Given the description of an element on the screen output the (x, y) to click on. 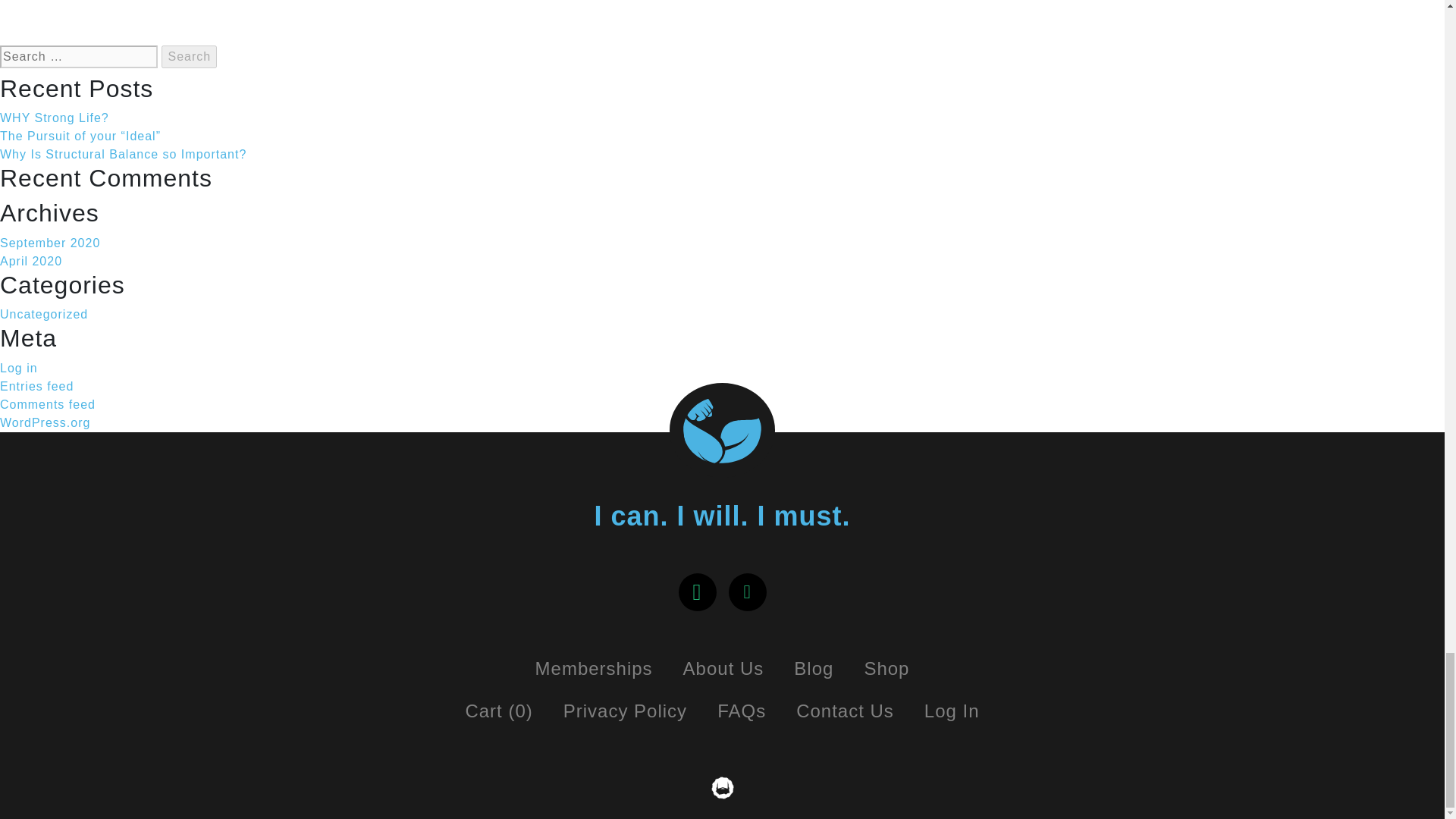
Shop (886, 668)
Entries feed (37, 386)
Search (188, 56)
September 2020 (50, 242)
This website has been Beard Approved by Redding Designs (722, 787)
View your shopping cart (498, 711)
Privacy Policy (624, 711)
WordPress.org (45, 422)
April 2020 (31, 260)
Search (188, 56)
Blog (813, 668)
Why Is Structural Balance so Important? (123, 154)
About Us (723, 668)
WHY Strong Life? (54, 117)
Uncategorized (43, 314)
